Given the description of an element on the screen output the (x, y) to click on. 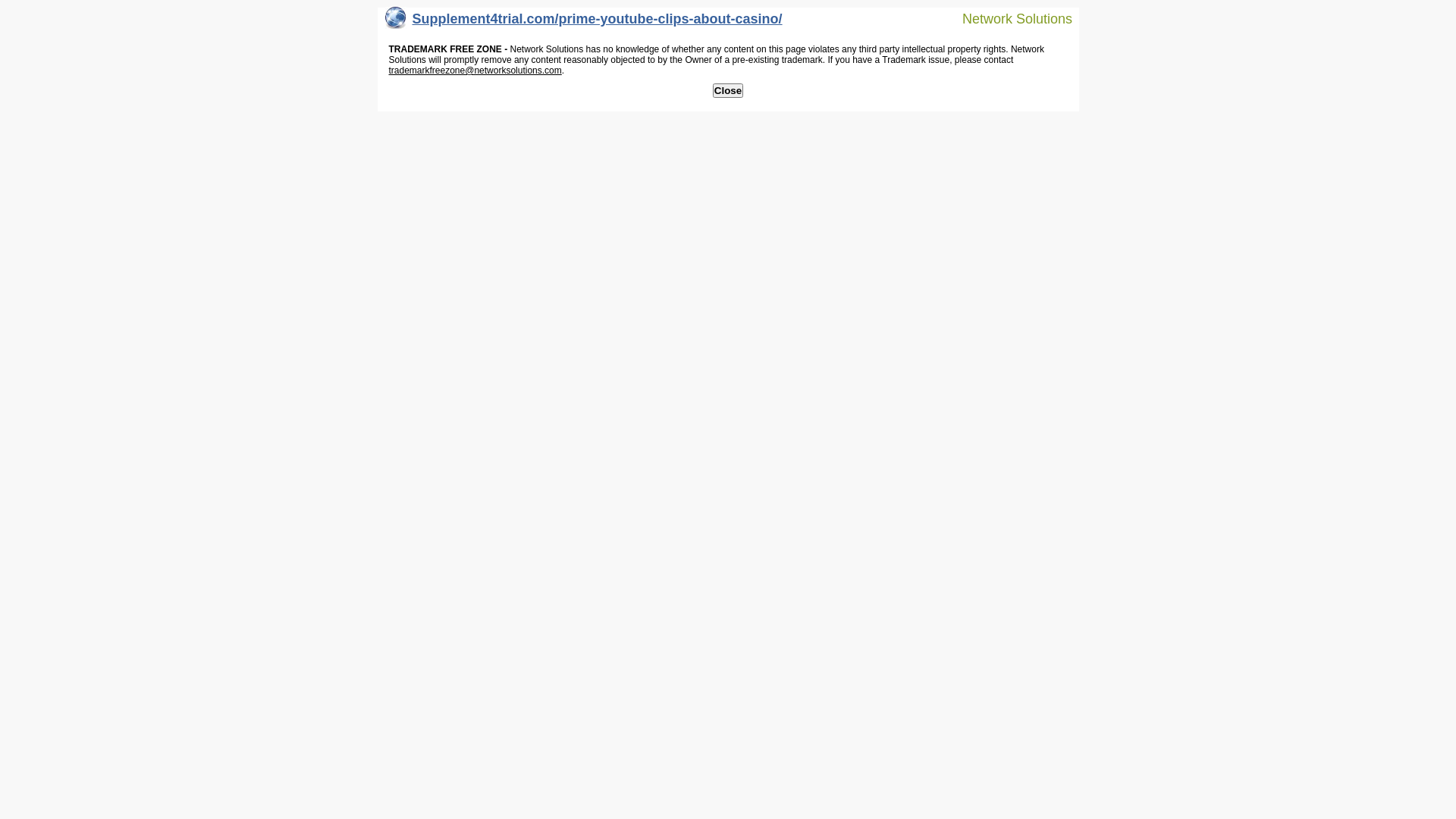
trademarkfreezone@networksolutions.com Element type: text (474, 70)
Close Element type: text (727, 90)
Network Solutions Element type: text (1007, 17)
Supplement4trial.com/prime-youtube-clips-about-casino/ Element type: text (583, 21)
